Given the description of an element on the screen output the (x, y) to click on. 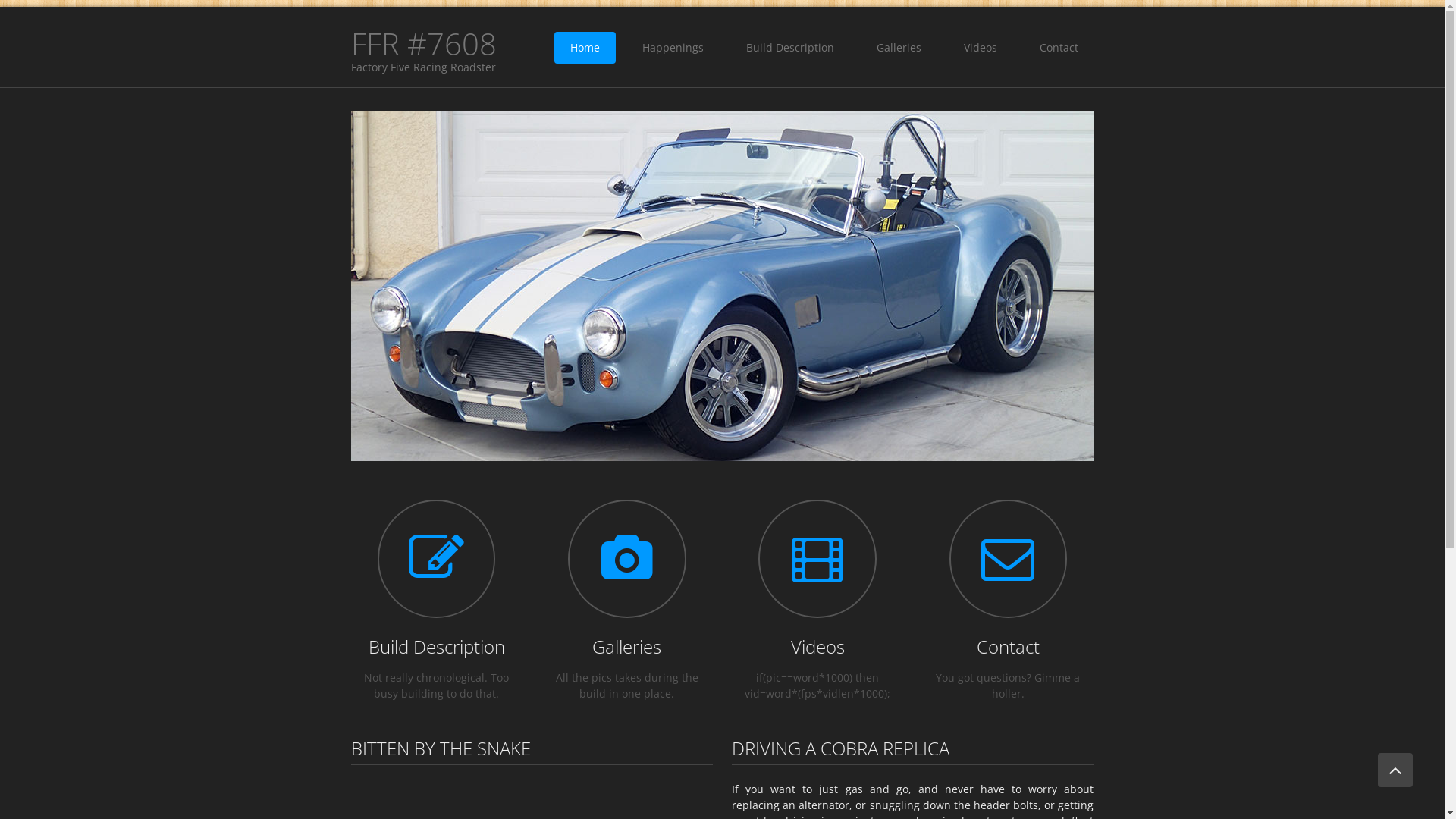
Contact Element type: text (1007, 645)
Build Description Element type: text (789, 47)
BITTEN BY THE SNAKE Element type: text (440, 747)
Contact Element type: text (1058, 47)
FFR #7608 Element type: text (422, 43)
Galleries Element type: text (626, 645)
DRIVING A COBRA REPLICA Element type: text (840, 747)
Videos Element type: text (817, 645)
Galleries Element type: text (897, 47)
Happenings Element type: text (672, 47)
BACK TO TOP Element type: hover (1394, 770)
Home Element type: text (584, 47)
Videos Element type: text (980, 47)
Build Description Element type: text (436, 645)
